Given the description of an element on the screen output the (x, y) to click on. 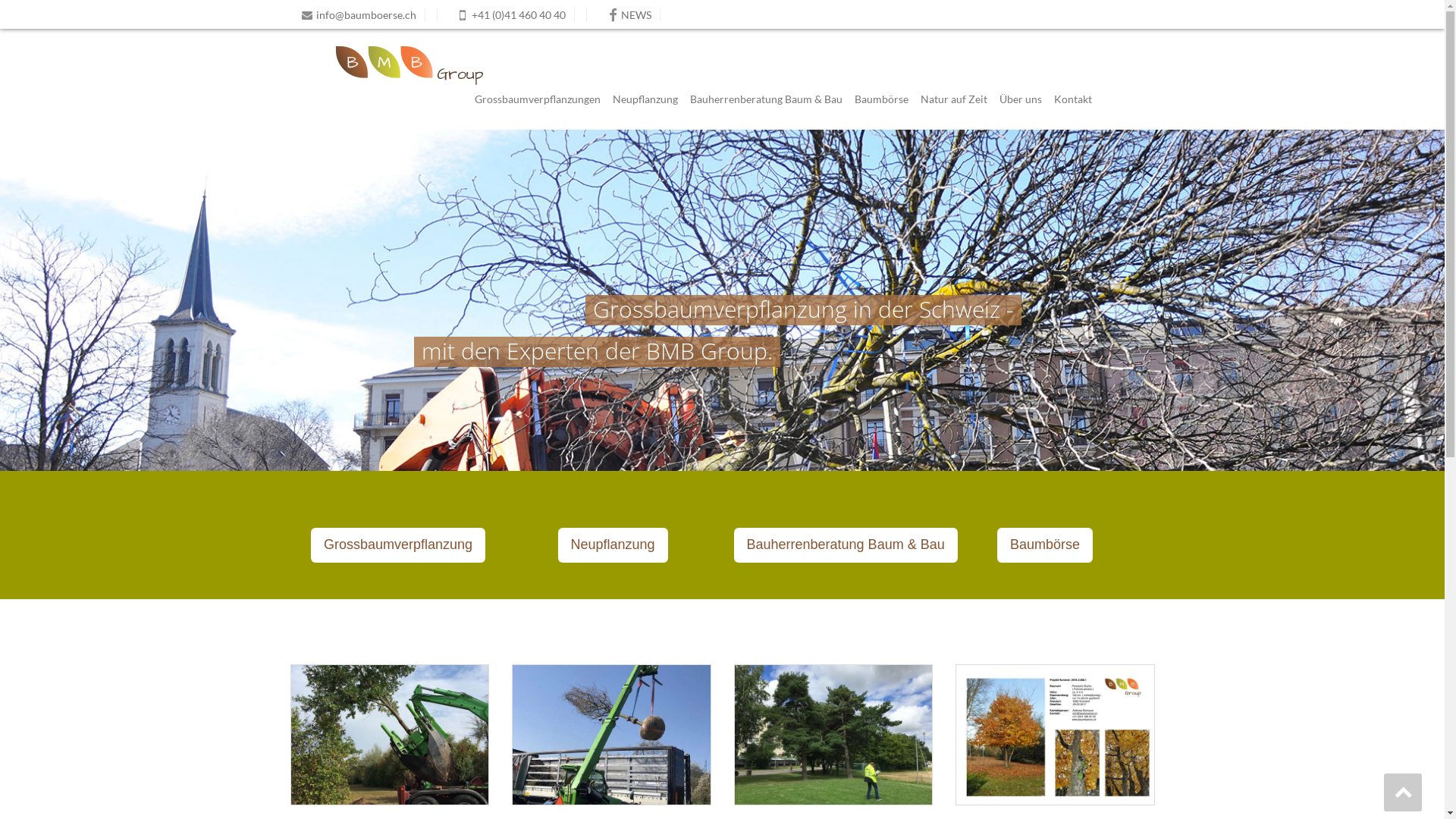
Natur auf Zeit Element type: text (953, 98)
Grossbaumverpflanzungen Element type: text (537, 98)
Kontakt Element type: text (1073, 98)
Grossbaumverpflanzung Element type: text (397, 544)
Bauherrenberatung Baum & Bau Element type: text (766, 98)
Go to top Element type: hover (1402, 792)
Bauherrenberatung Baum & Bau Element type: text (845, 544)
NEWS Element type: text (629, 14)
+41 (0)41 460 40 40 Element type: text (512, 14)
Neupflanzung Element type: text (613, 544)
Neupflanzung Element type: text (645, 98)
info@baumboerse.ch Element type: text (362, 14)
BMB - baumboerse.ch Element type: hover (390, 65)
